Given the description of an element on the screen output the (x, y) to click on. 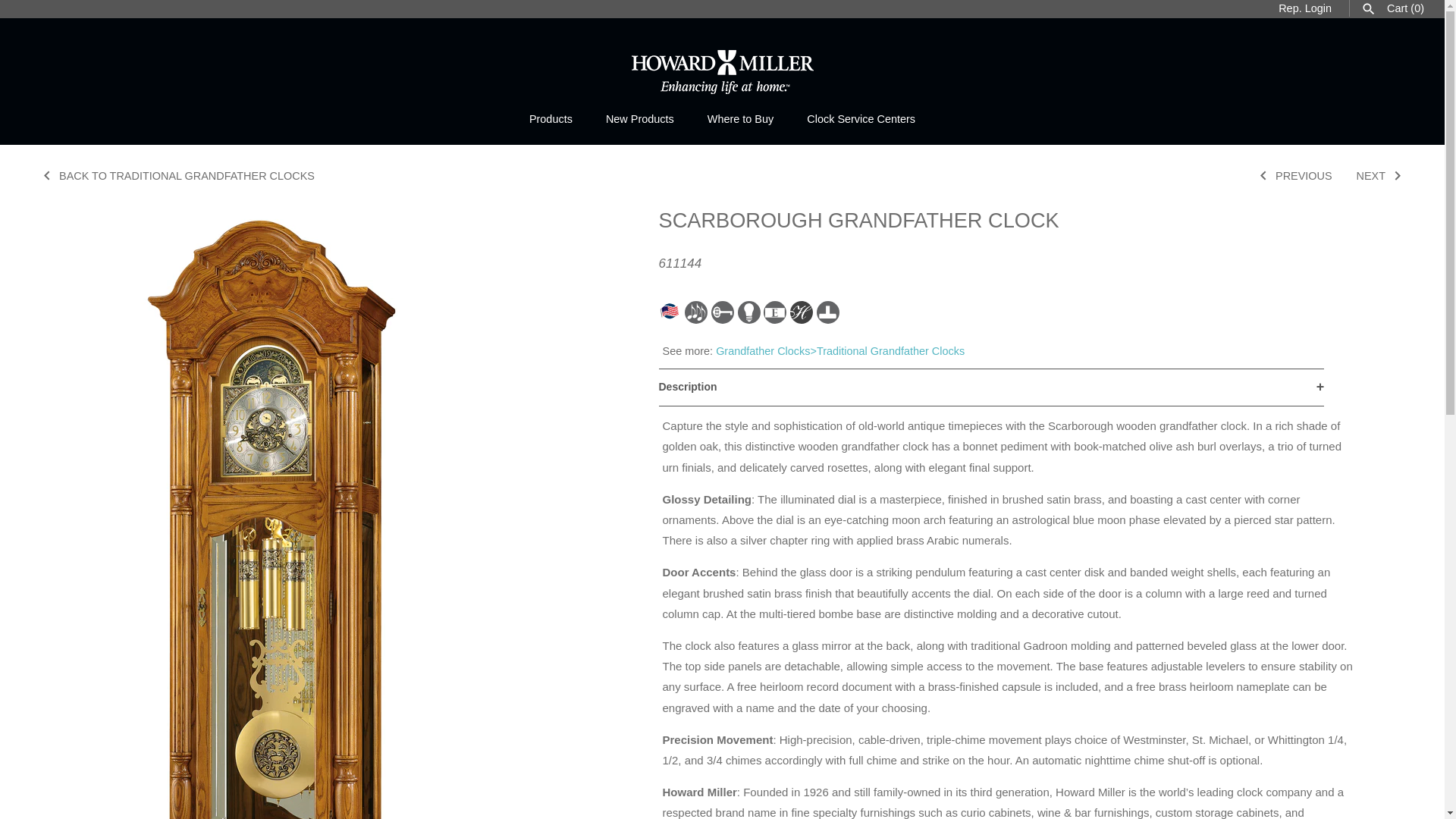
RIGHT (1397, 176)
Rep. Login (1305, 8)
LEFT (1262, 176)
Scarborough Grandfather Clock (272, 206)
Products (550, 119)
LEFT (46, 176)
